Given the description of an element on the screen output the (x, y) to click on. 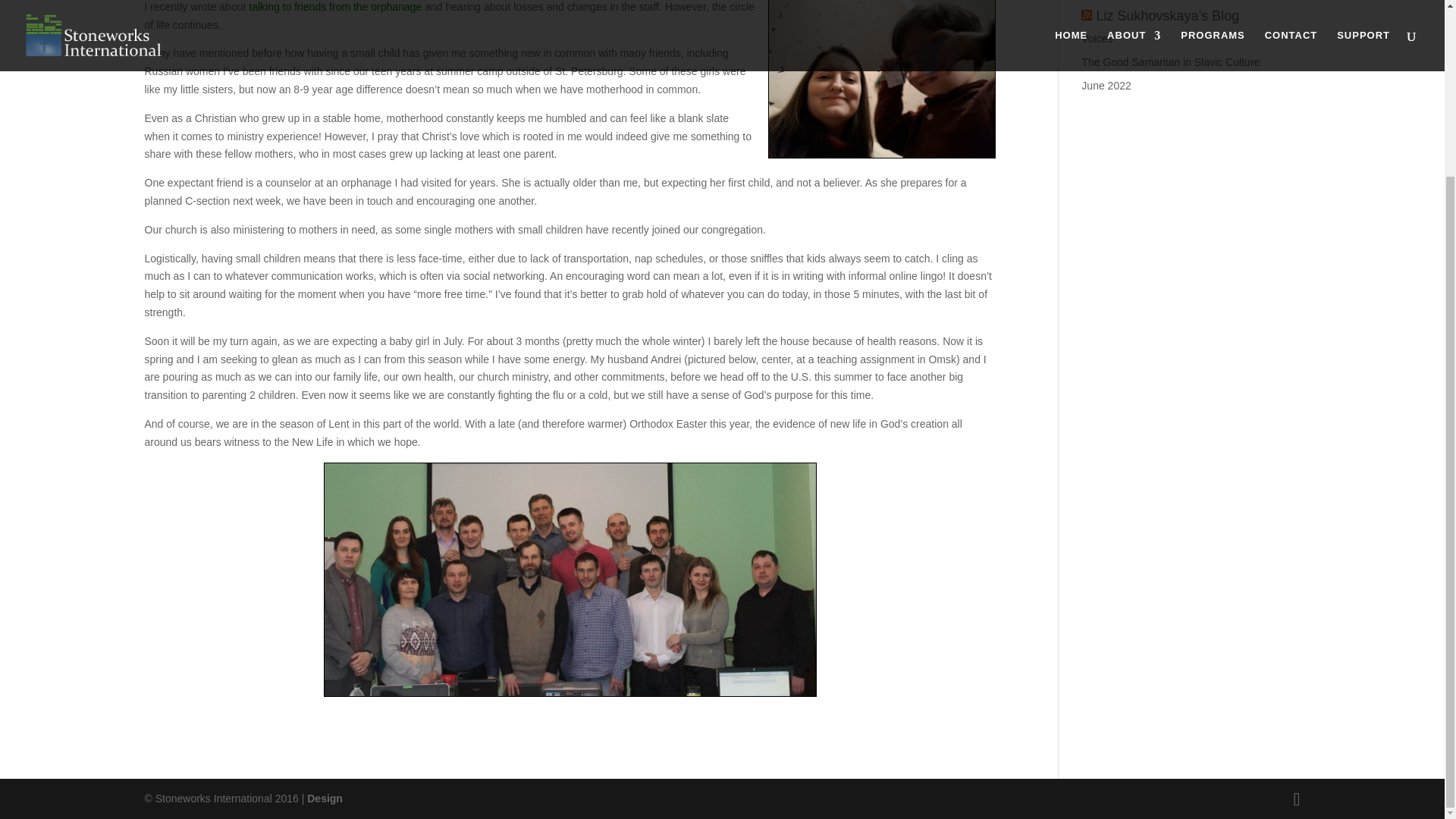
Design (324, 798)
talking to friends from the orphanage (335, 6)
Voices (1096, 38)
June 2022 (1106, 85)
The Good Samaritan in Slavic Culture (1170, 61)
